Given the description of an element on the screen output the (x, y) to click on. 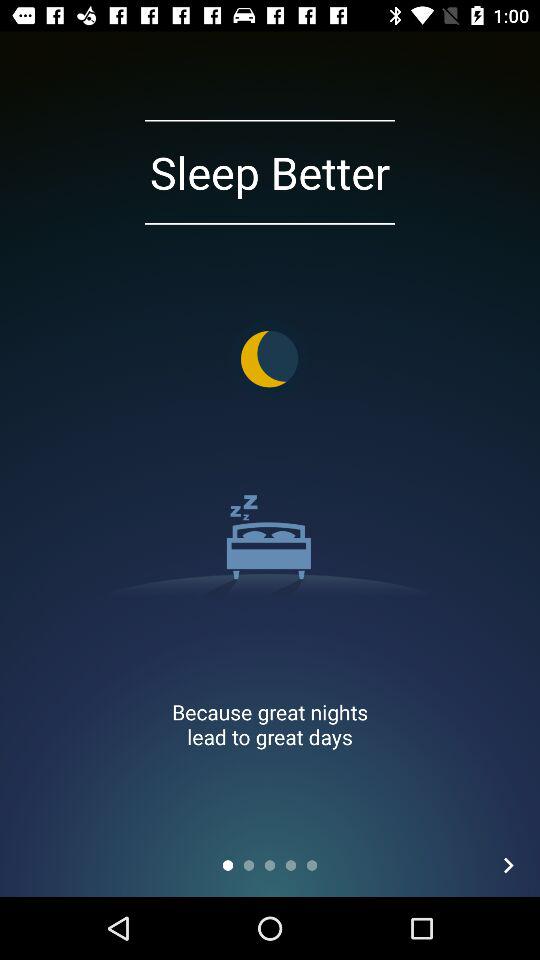
click the item at the bottom right corner (508, 864)
